Given the description of an element on the screen output the (x, y) to click on. 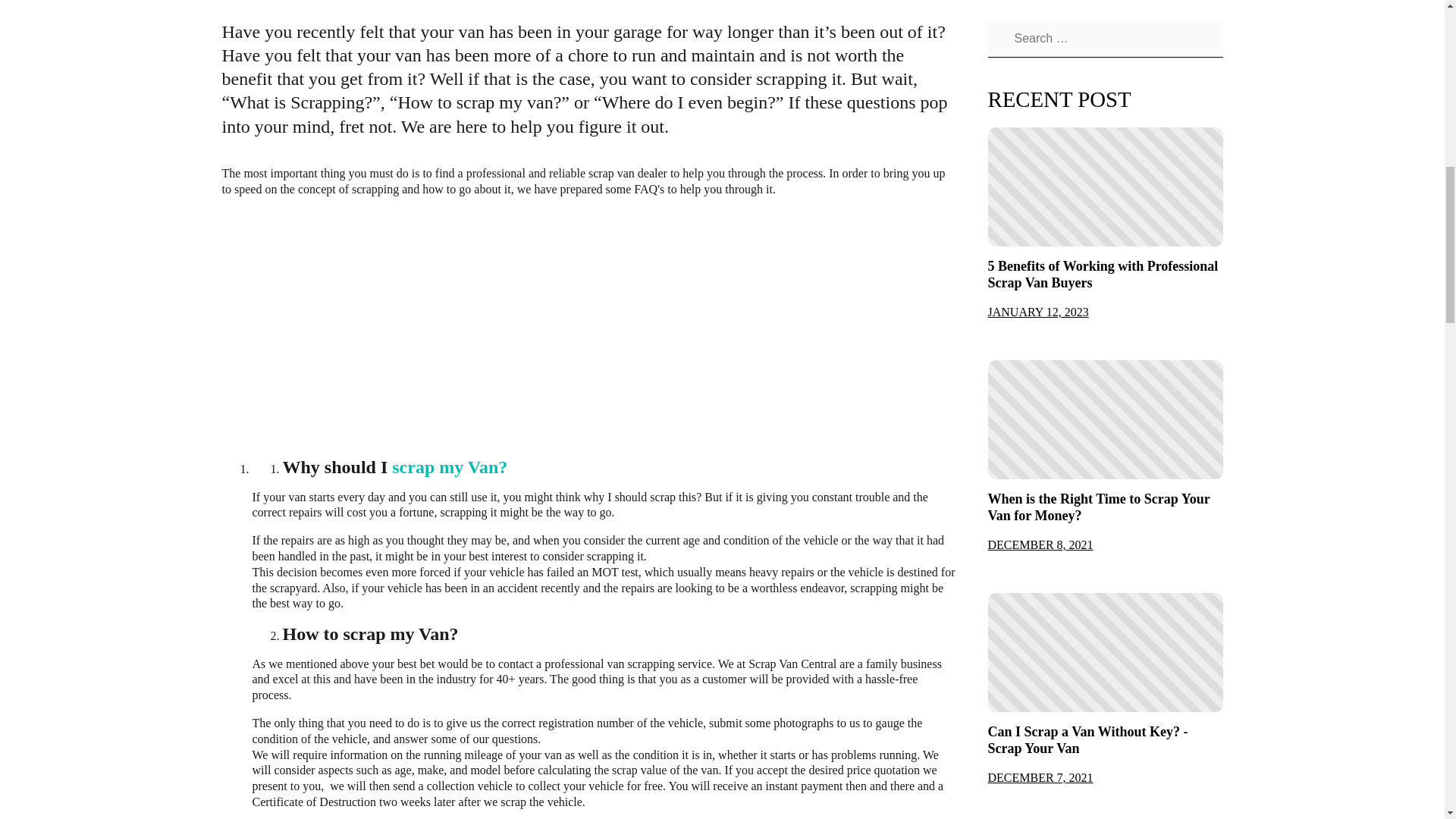
Search (995, 38)
5 Benefits of Working with Professional Scrap Van Buyers (1105, 274)
When is the Right Time to Scrap Your Van for Money? (1105, 507)
Search for: (1105, 38)
Search (995, 38)
Search (995, 38)
Can I Scrap a Van Without Key? - Scrap Your Van (1105, 739)
scrap my Van? (448, 466)
